Given the description of an element on the screen output the (x, y) to click on. 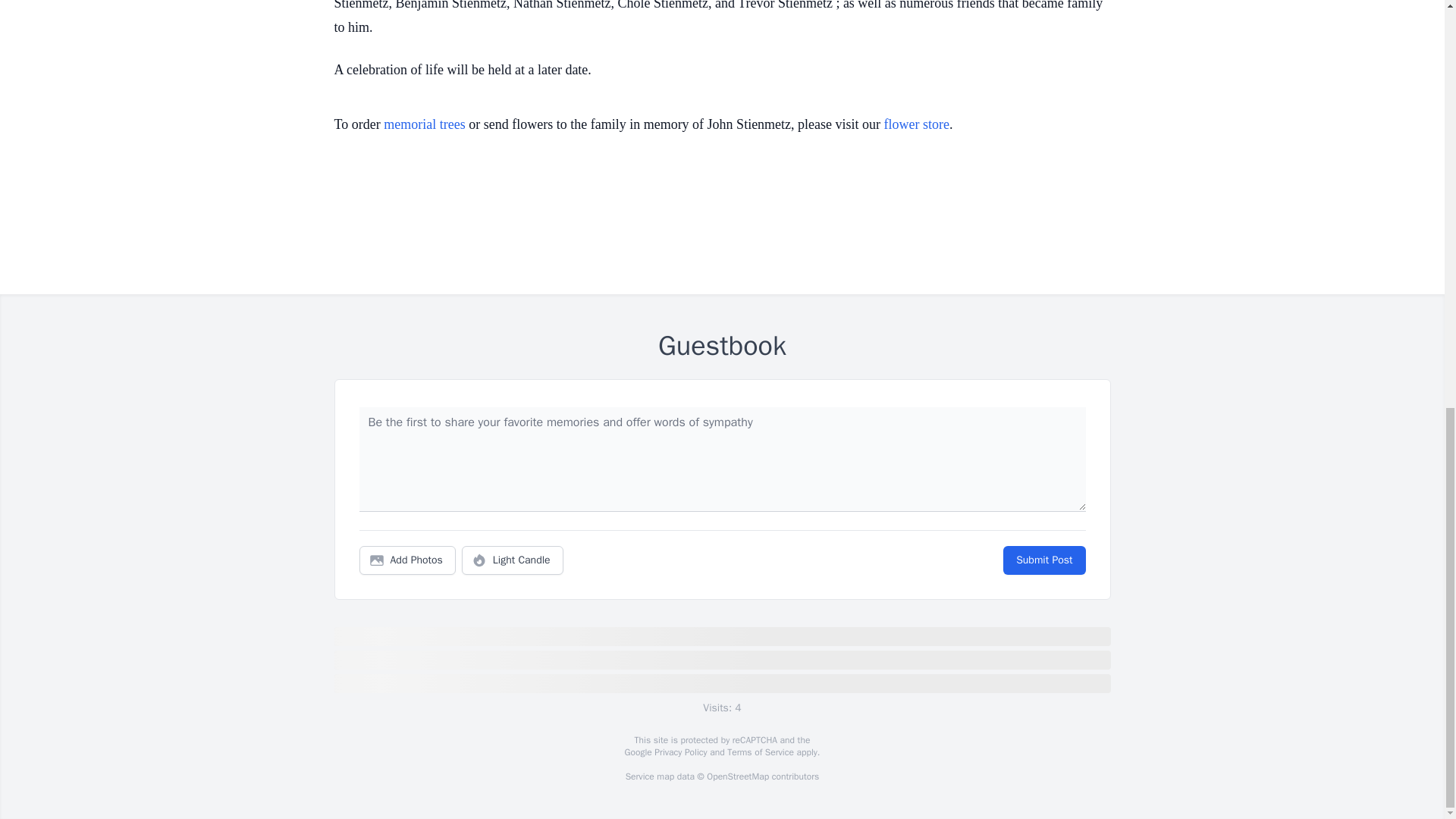
Submit Post (1043, 560)
OpenStreetMap (737, 776)
memorial trees (424, 124)
Terms of Service (759, 752)
Light Candle (512, 560)
flower store (916, 124)
Add Photos (407, 560)
Privacy Policy (679, 752)
